Given the description of an element on the screen output the (x, y) to click on. 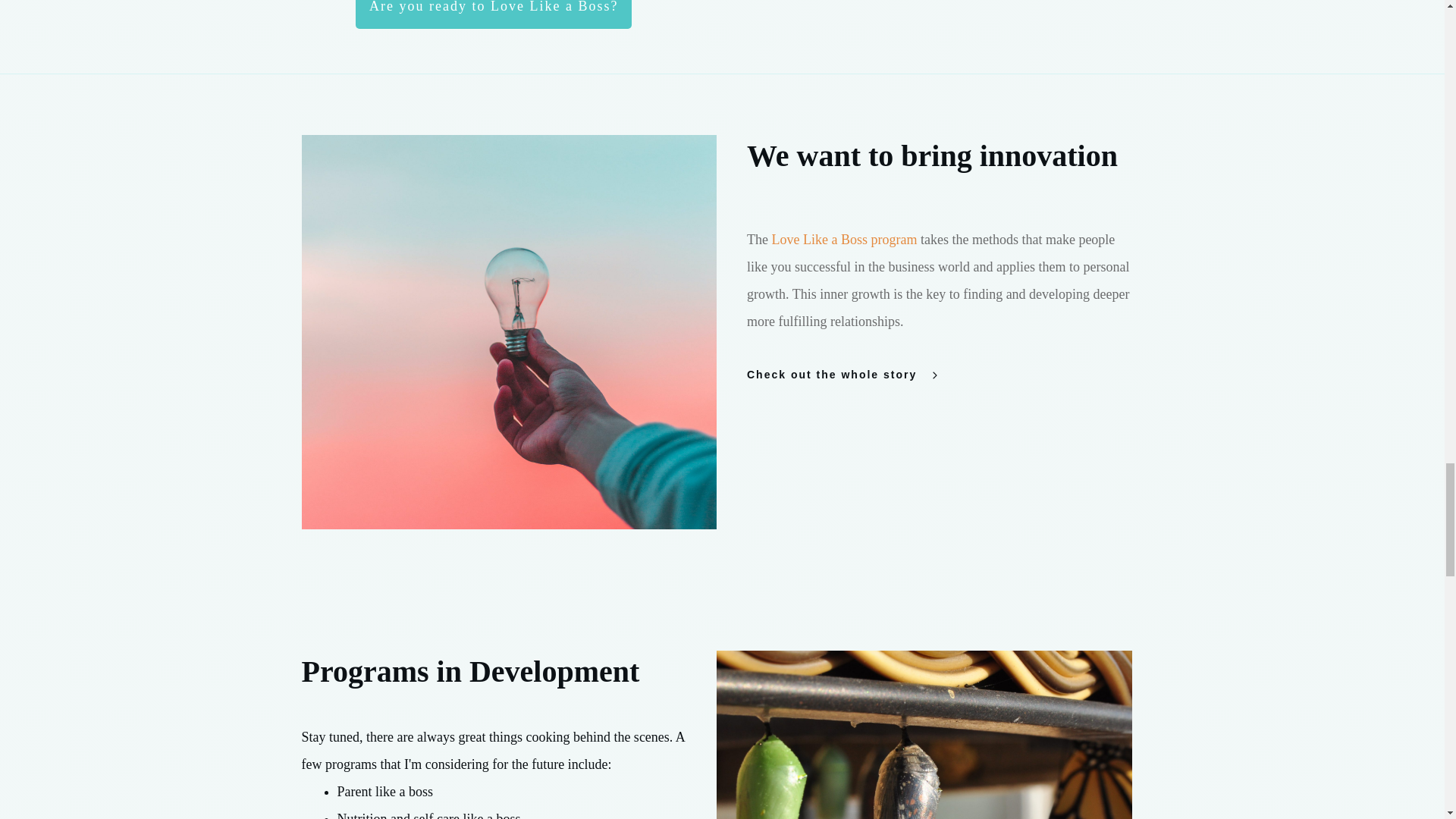
Love Like a Boss program (844, 239)
Are you ready to Love Like a Boss? (493, 14)
Check out the whole story (849, 374)
